Given the description of an element on the screen output the (x, y) to click on. 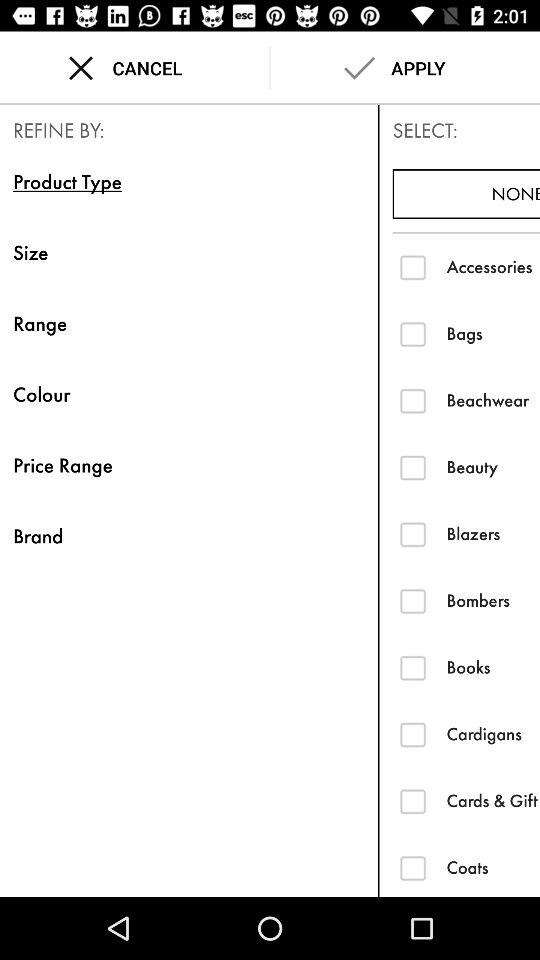
mark checkbox (412, 867)
